Given the description of an element on the screen output the (x, y) to click on. 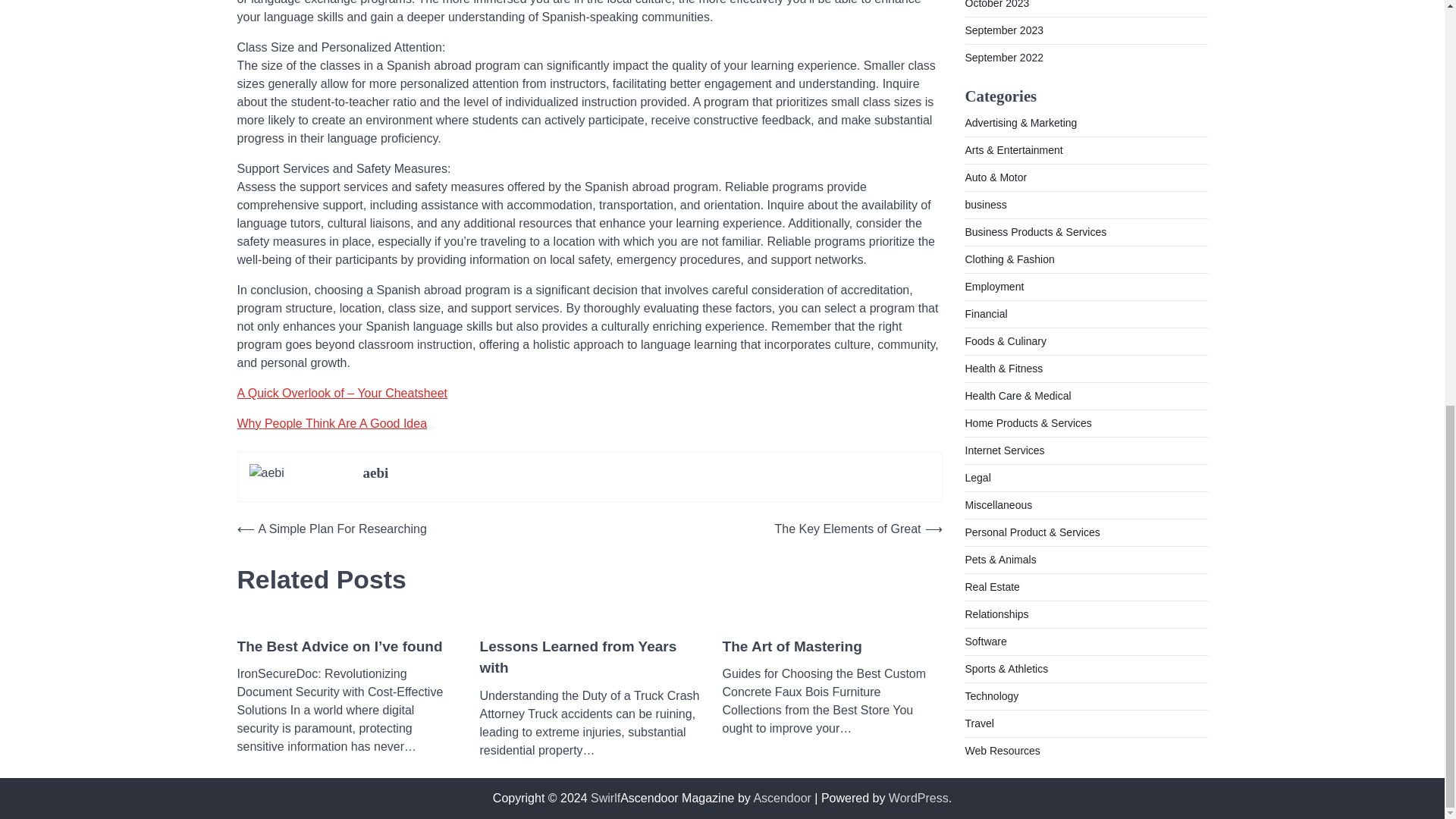
Why People Think Are A Good Idea (330, 422)
The Art of Mastering (791, 647)
Lessons Learned from Years with (588, 657)
business (984, 187)
September 2022 (1003, 40)
September 2023 (1003, 13)
